Given the description of an element on the screen output the (x, y) to click on. 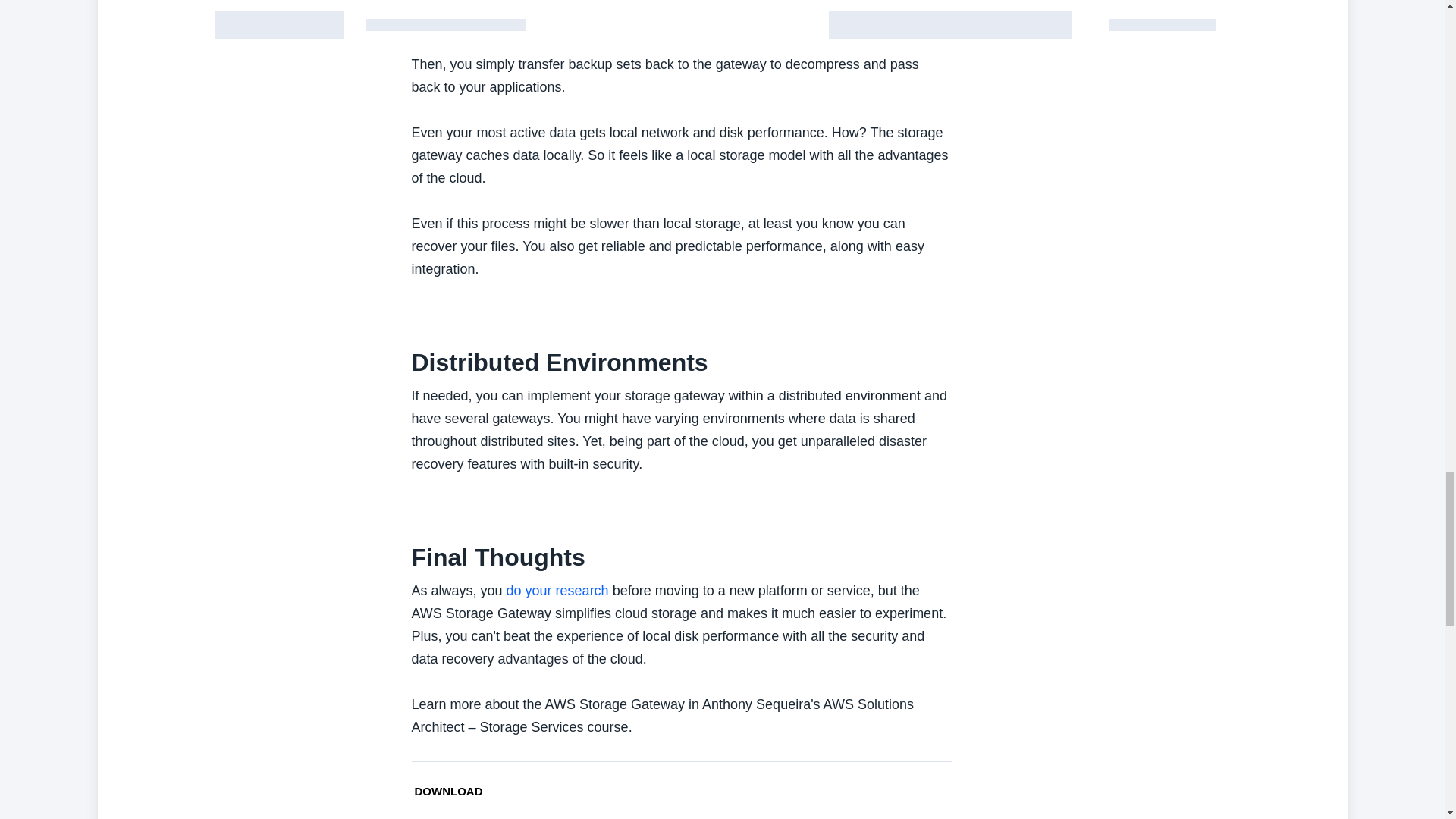
do your research (557, 590)
another data center (678, 30)
